Given the description of an element on the screen output the (x, y) to click on. 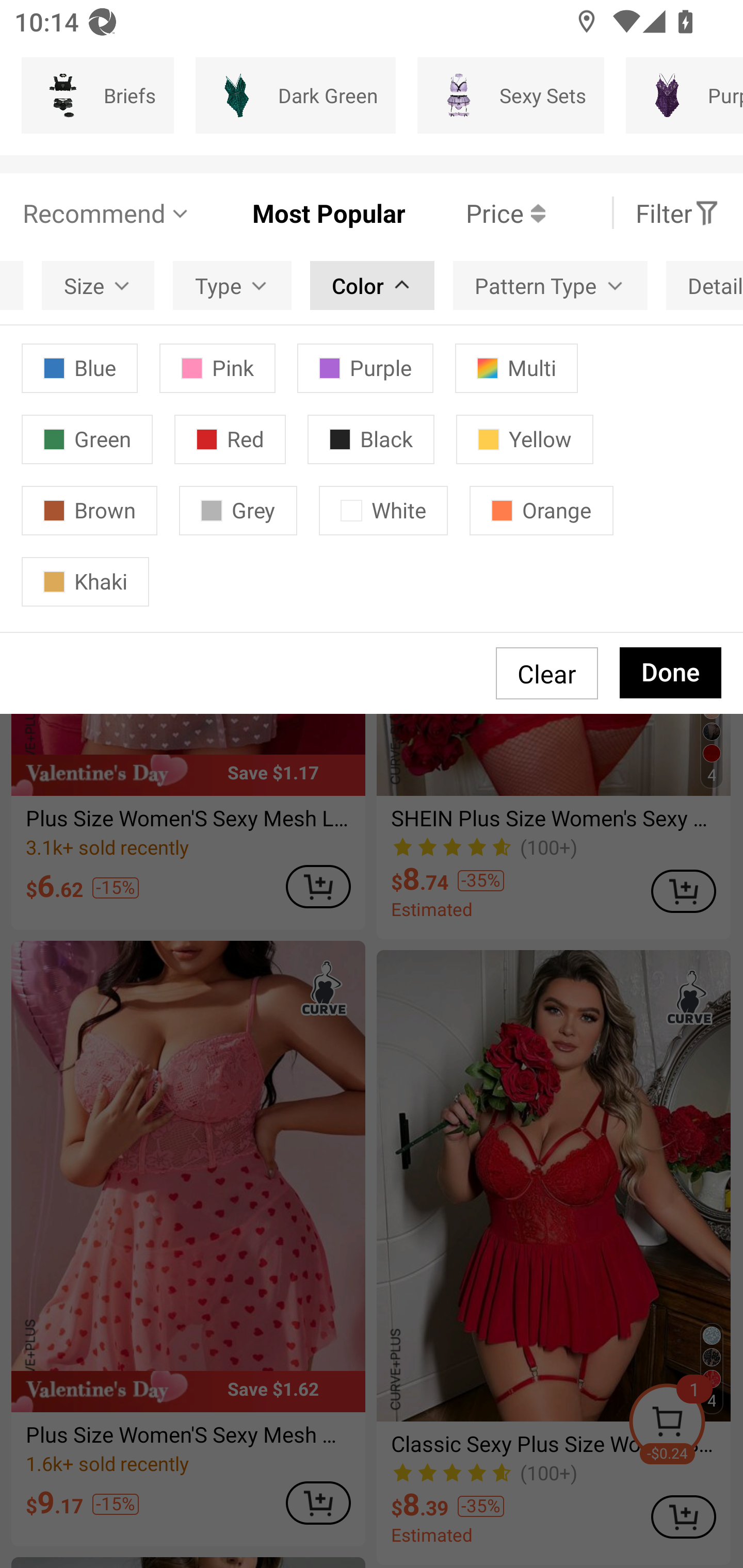
Briefs (97, 95)
Dark Green (295, 95)
Sexy Sets (510, 95)
Purple (684, 95)
Recommend (106, 213)
Most Popular (297, 213)
Price (474, 213)
Filter (677, 213)
Size (97, 285)
Type (232, 285)
Color (371, 285)
Pattern Type (550, 285)
Details (704, 285)
